Given the description of an element on the screen output the (x, y) to click on. 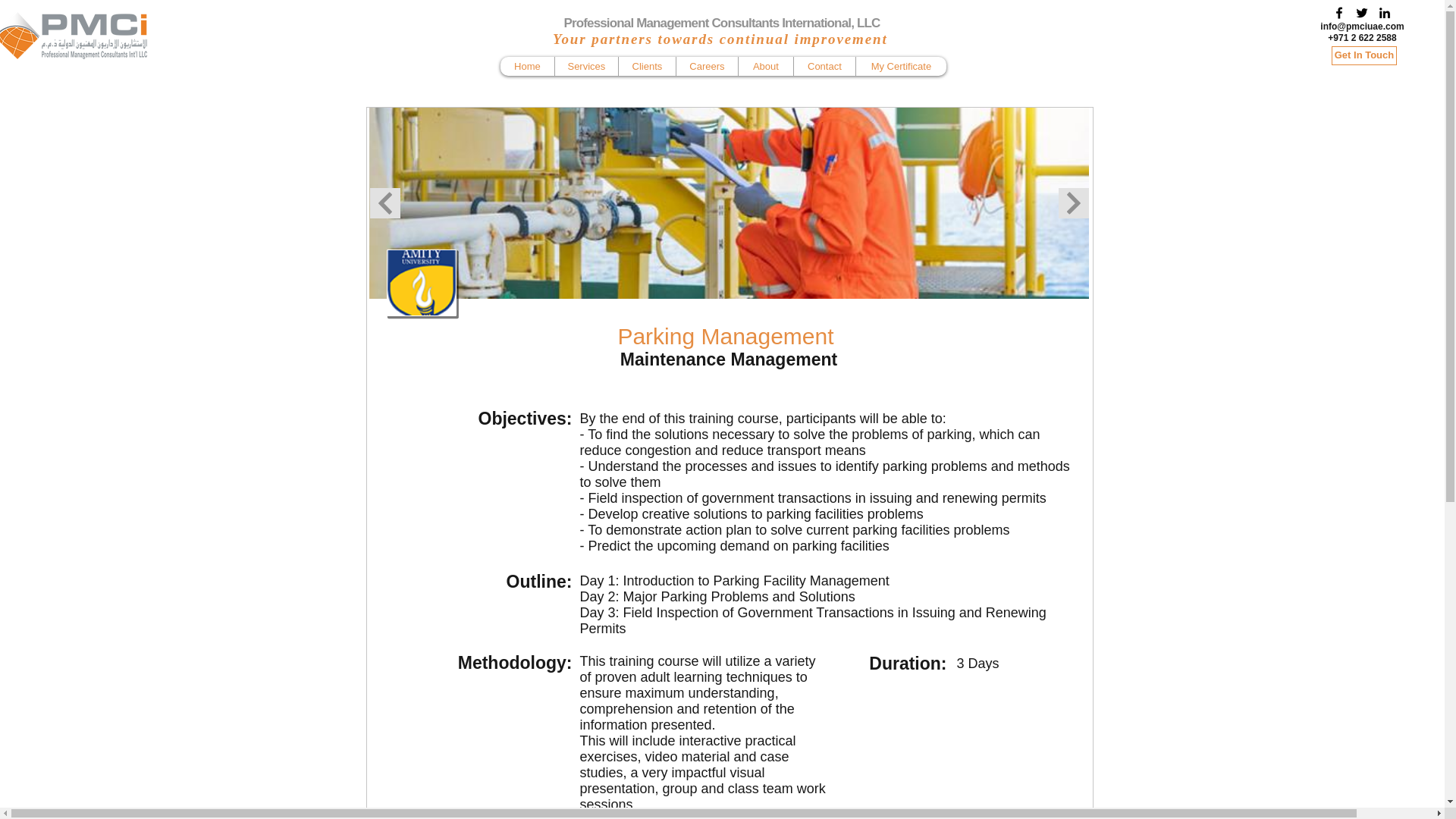
Home (527, 66)
Services (585, 66)
About (765, 66)
Parking Management (422, 282)
Clients (646, 66)
Get In Touch (1364, 55)
Careers (706, 66)
Contact (824, 66)
My Certificate (901, 66)
